Given the description of an element on the screen output the (x, y) to click on. 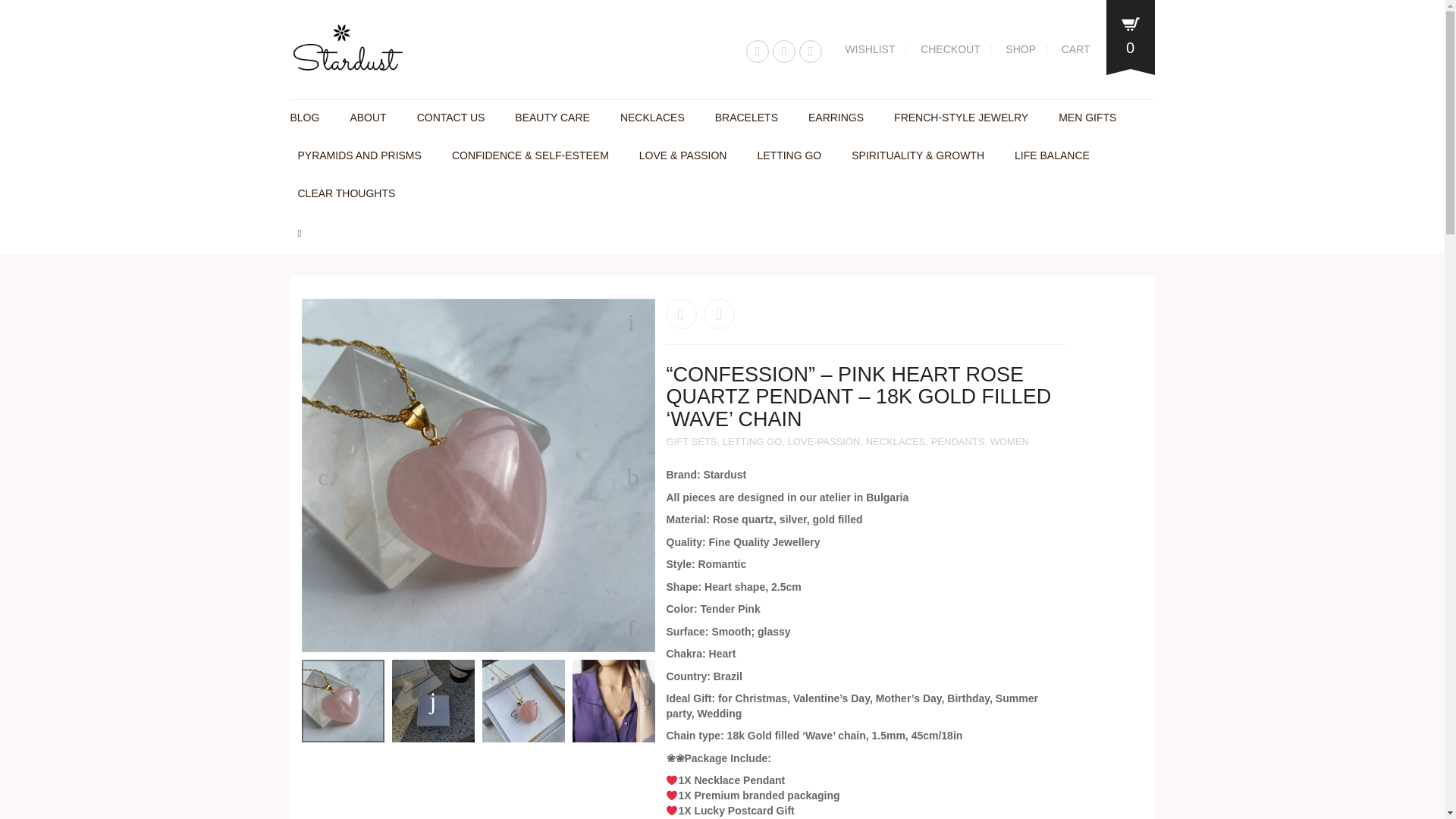
CONTACT US (451, 118)
BEAUTY CARE (551, 118)
WISHLIST (869, 48)
CART (1072, 48)
SHOP (1020, 48)
NECKLACES (652, 118)
CHECKOUT (950, 48)
BRACELETS (746, 118)
BLOG (307, 118)
Delivery-Stardust (150, 474)
image00018 (478, 474)
0 (1129, 39)
ABOUT (367, 118)
